Given the description of an element on the screen output the (x, y) to click on. 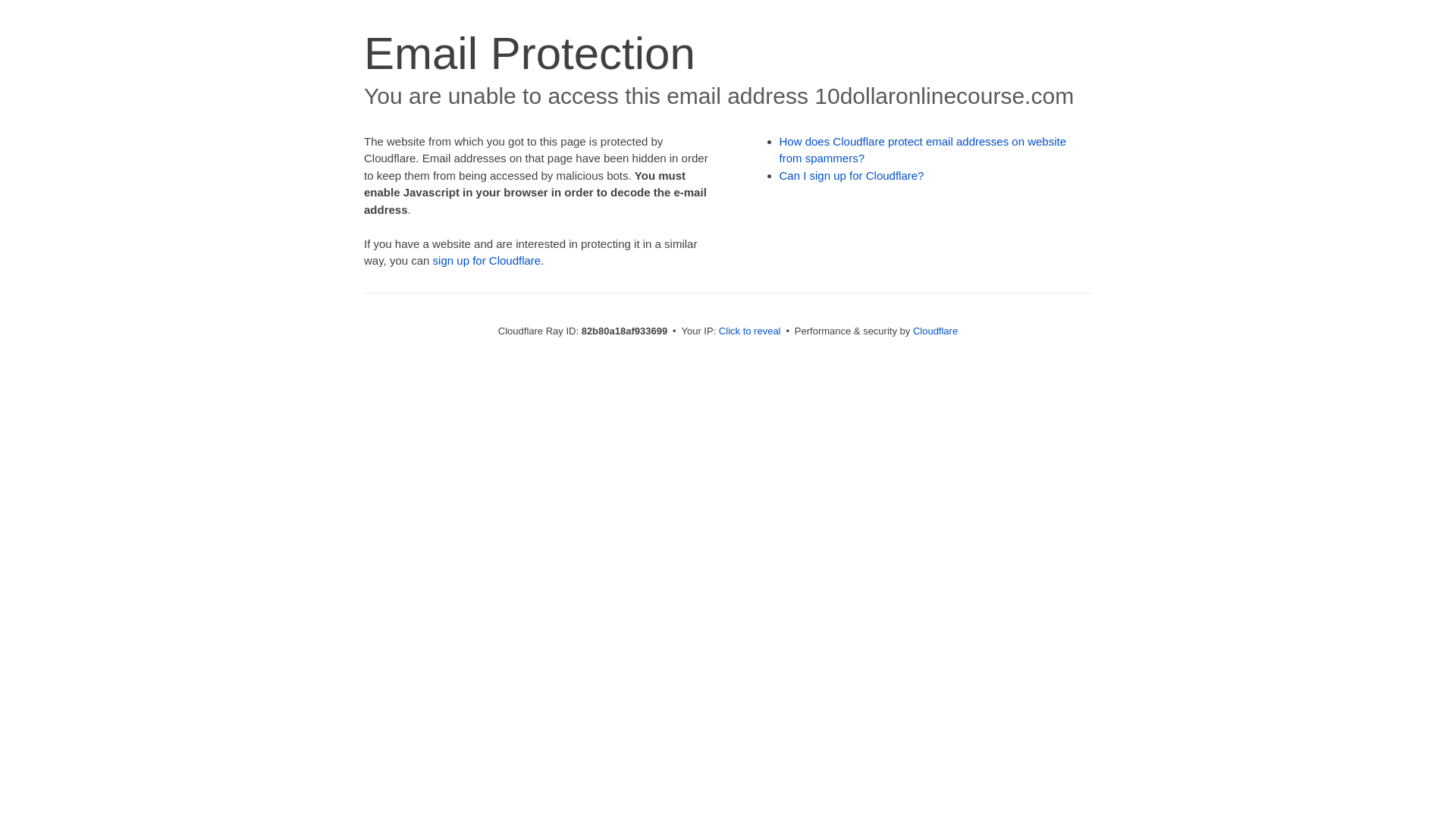
Click to reveal Element type: text (749, 330)
Can I sign up for Cloudflare? Element type: text (851, 175)
Cloudflare Element type: text (935, 330)
sign up for Cloudflare Element type: text (487, 260)
